Given the description of an element on the screen output the (x, y) to click on. 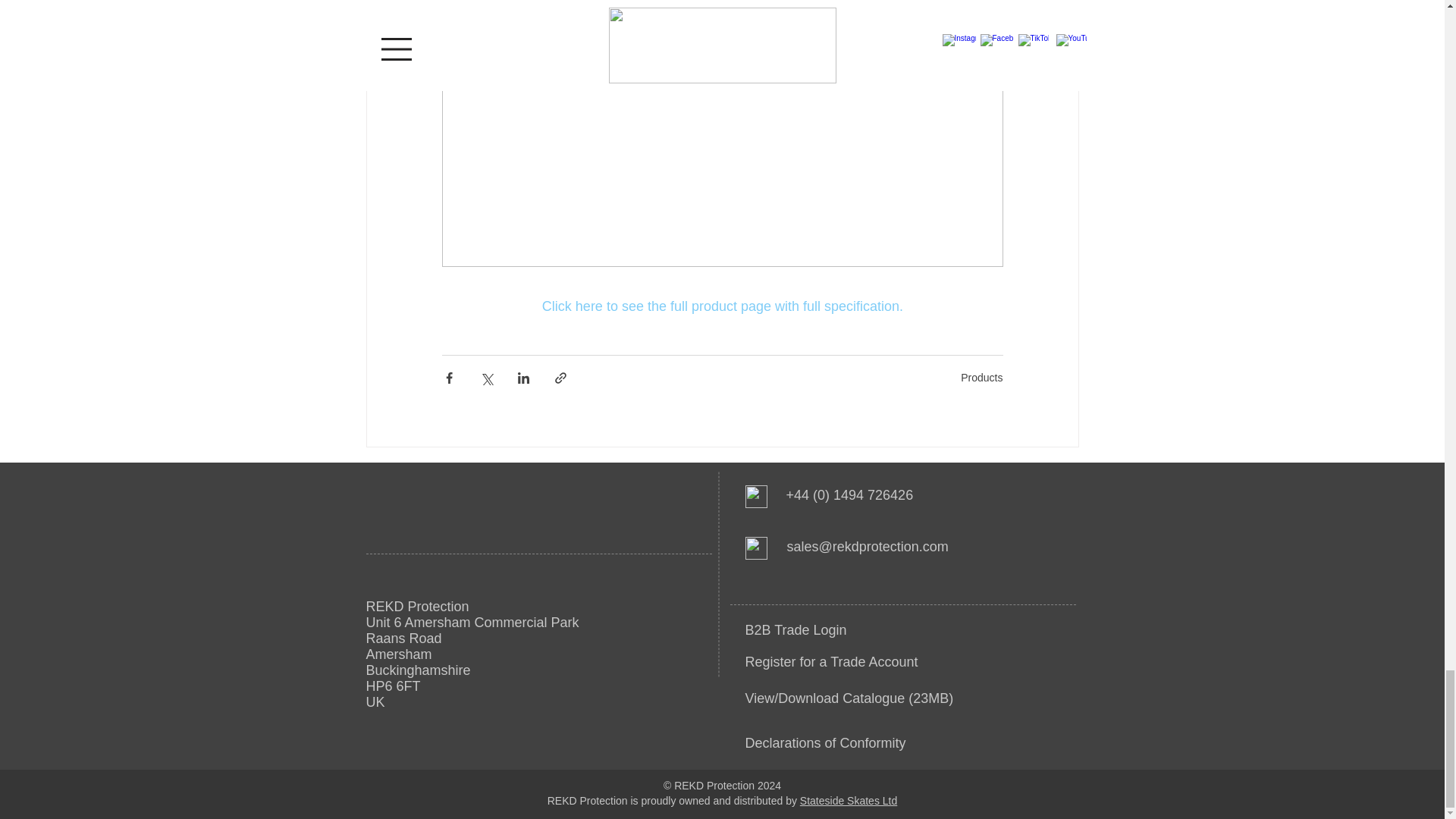
B2B Trade Login (794, 630)
Products (981, 377)
